Given the description of an element on the screen output the (x, y) to click on. 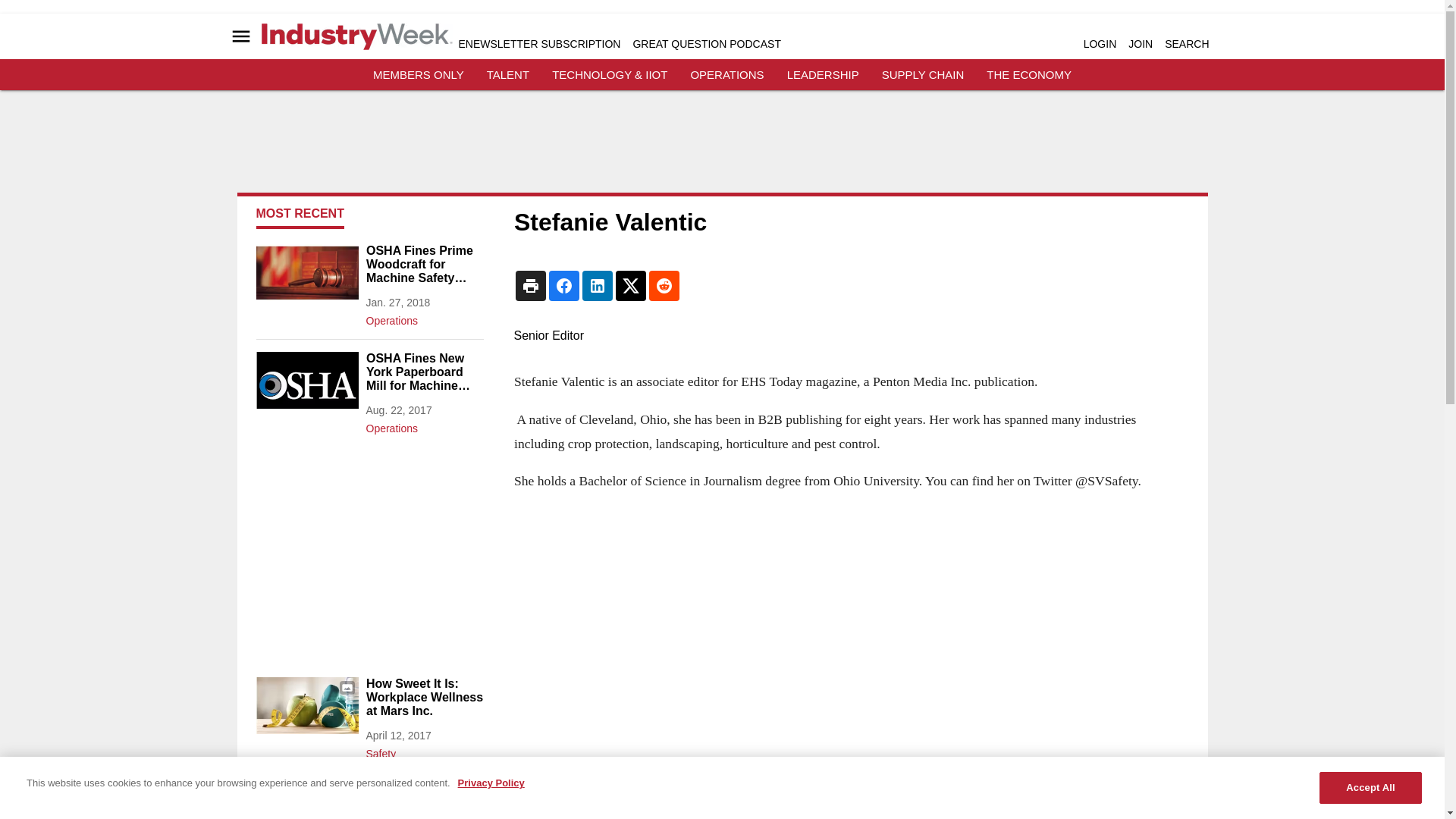
TALENT (507, 74)
Image (307, 801)
THE ECONOMY (1029, 74)
Image (307, 705)
LOGIN (1099, 43)
MEMBERS ONLY (418, 74)
gavel (307, 272)
OPERATIONS (726, 74)
3rd party ad content (369, 555)
SUPPLY CHAIN (922, 74)
GREAT QUESTION PODCAST (705, 43)
LEADERSHIP (823, 74)
SEARCH (1186, 43)
3rd party ad content (721, 146)
ENEWSLETTER SUBSCRIPTION (539, 43)
